Given the description of an element on the screen output the (x, y) to click on. 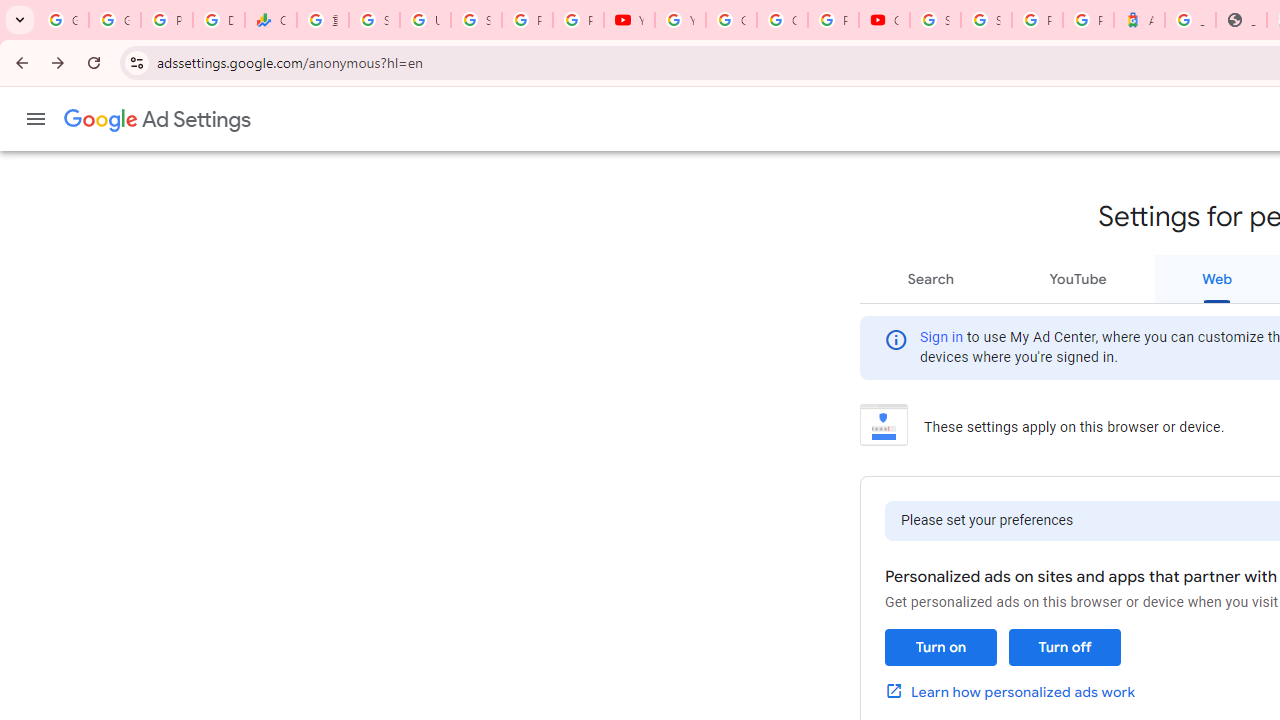
Forward (57, 62)
Create your Google Account (781, 20)
YouTube (680, 20)
Sign in - Google Accounts (935, 20)
Currencies - Google Finance (270, 20)
Privacy Checkup (578, 20)
Turn ads based on your interests on. (940, 647)
YouTube (1077, 278)
YouTube (629, 20)
Back (19, 62)
Sign in - Google Accounts (374, 20)
View site information (136, 62)
